Given the description of an element on the screen output the (x, y) to click on. 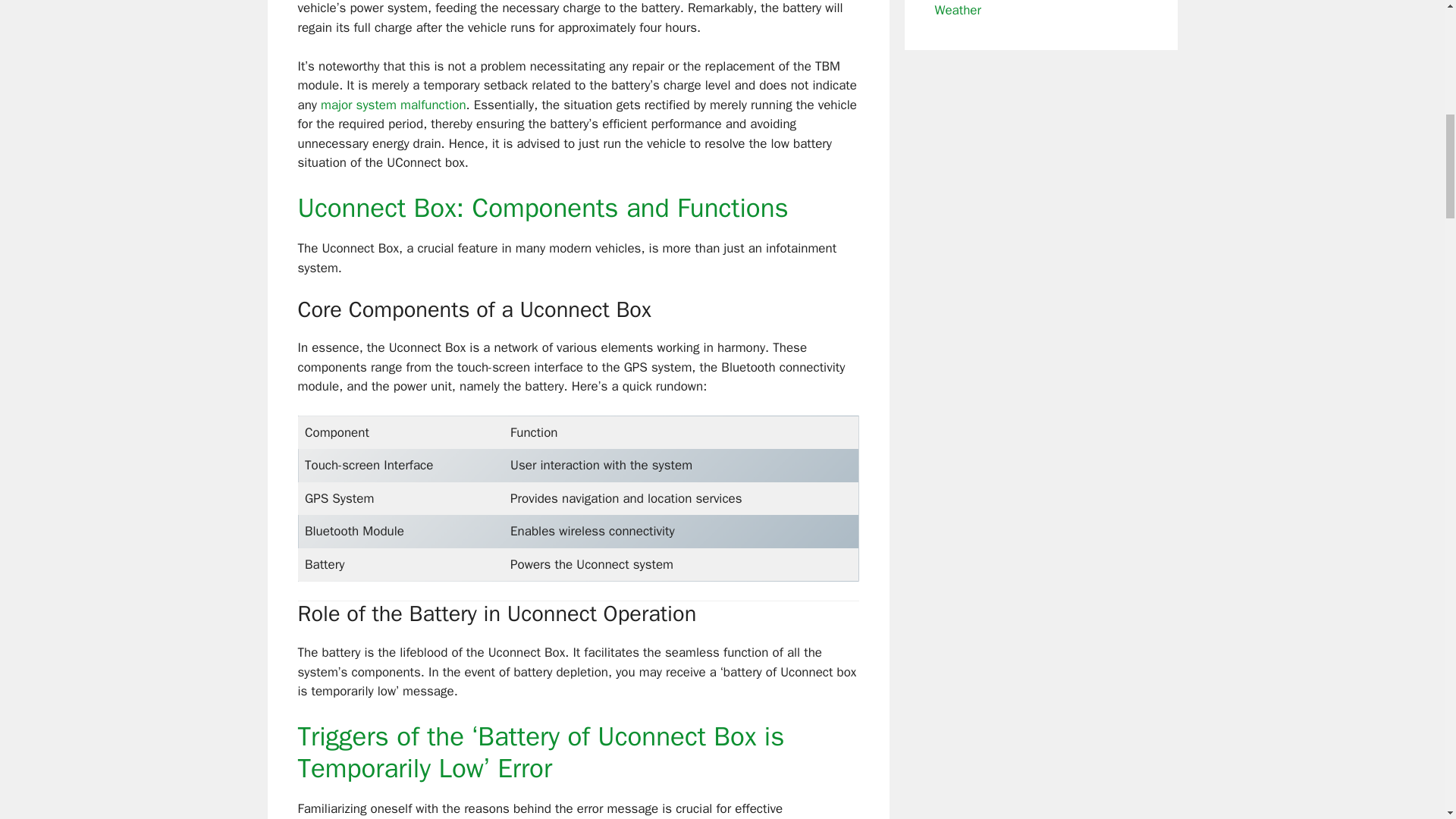
Scroll back to top (1406, 720)
Weather (956, 9)
major system malfunction (392, 105)
